Given the description of an element on the screen output the (x, y) to click on. 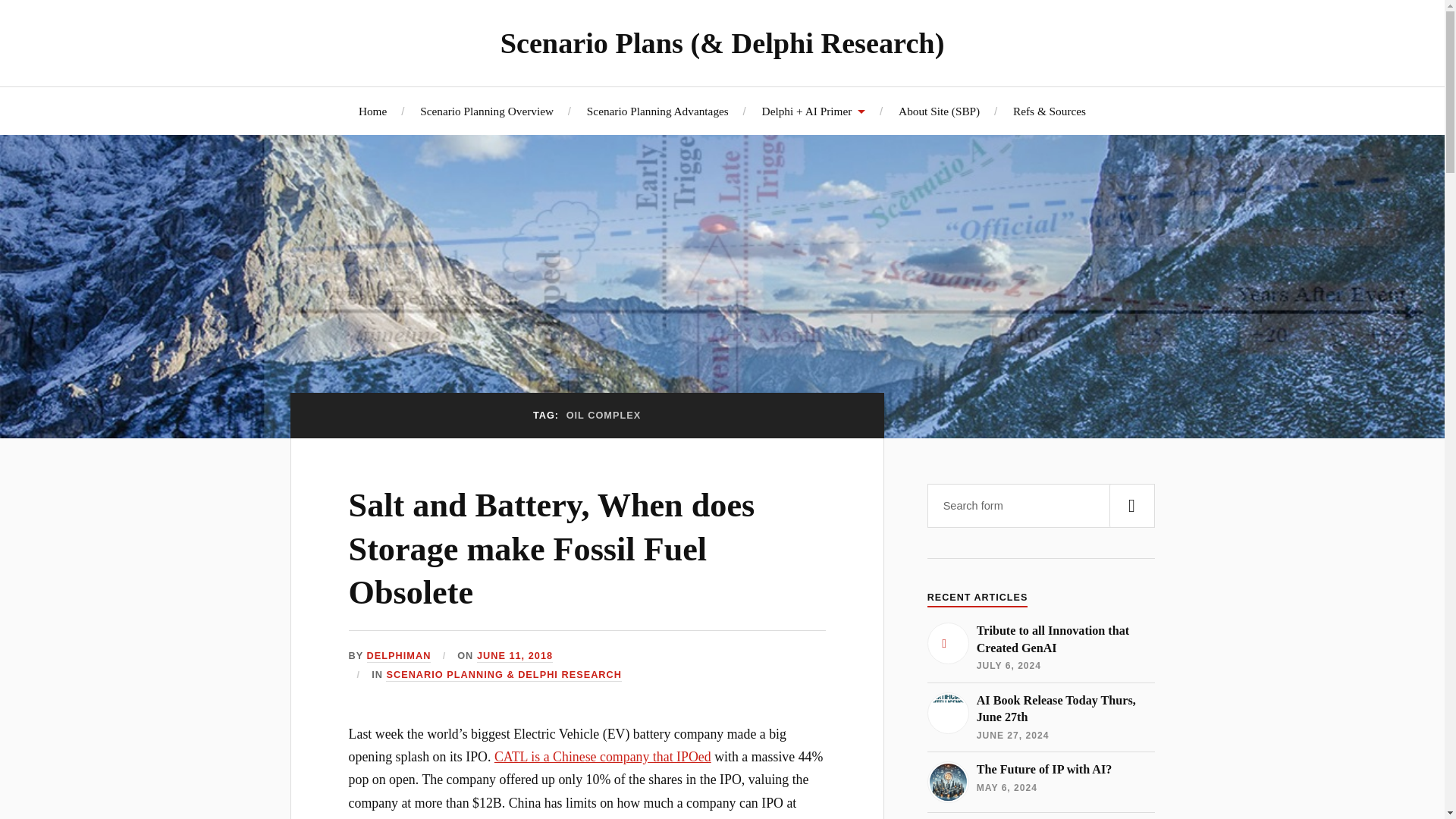
CATL is a Chinese company that IPOed (603, 756)
JUNE 11, 2018 (1040, 717)
DELPHIMAN (515, 656)
Scenario Planning Advantages (1040, 782)
Scenario Planning Overview (398, 656)
Posts by DelphiMan (657, 110)
Home (1040, 647)
